Given the description of an element on the screen output the (x, y) to click on. 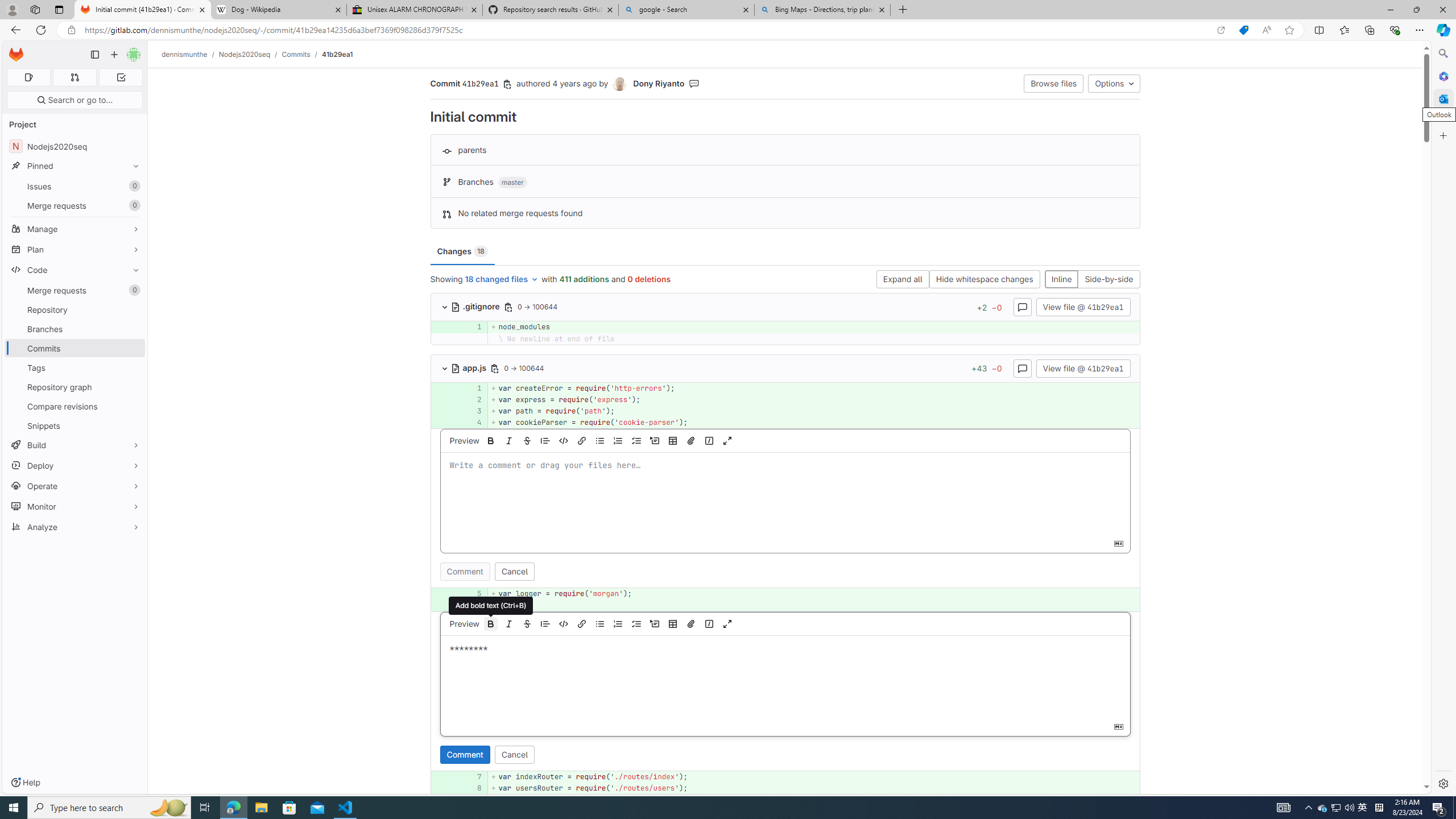
Copy file path (494, 368)
N Nodejs2020seq (74, 145)
Dony Riyanto's avatar (619, 83)
Nodejs2020seq (244, 53)
Build (74, 444)
Pin Commits (132, 348)
Pin Branches (132, 328)
Add bold text (Ctrl+B) (490, 605)
Add a link (Ctrl+K) (581, 623)
Class: s16 gl-icon gl-button-icon  (1117, 726)
Unpin Issues (132, 186)
